Given the description of an element on the screen output the (x, y) to click on. 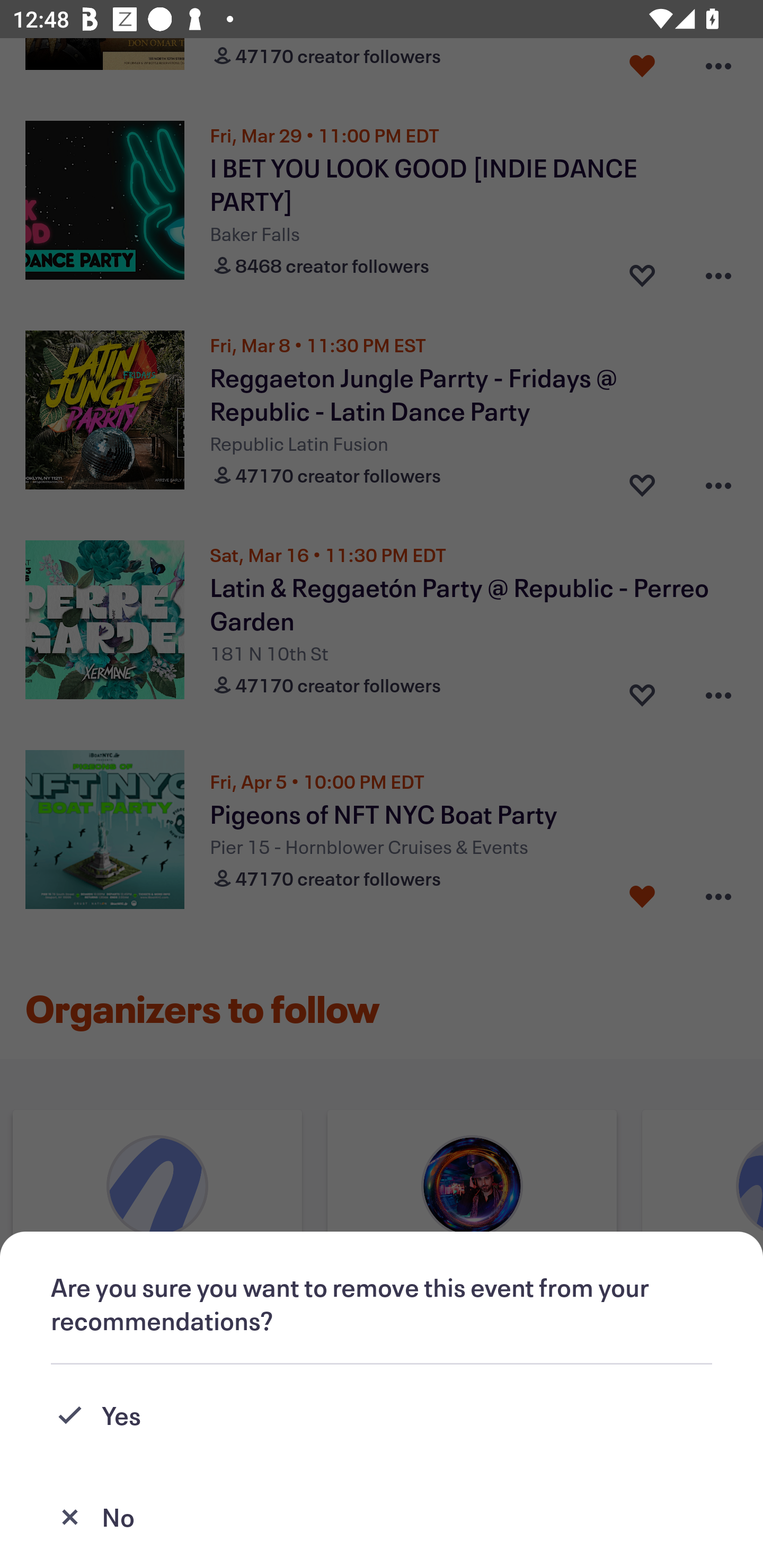
Yes (381, 1415)
No (381, 1517)
